Given the description of an element on the screen output the (x, y) to click on. 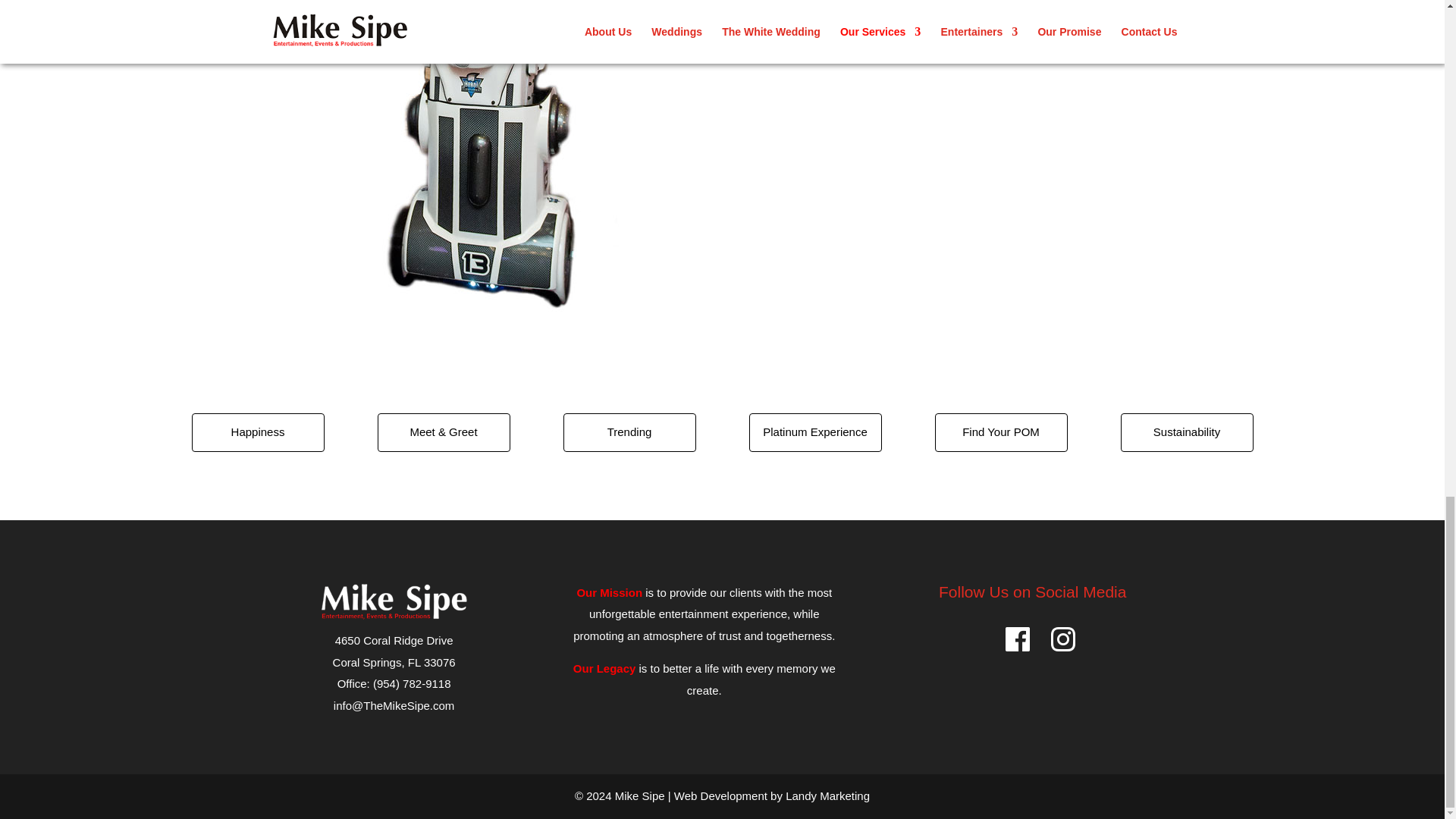
Platinum Experience (815, 432)
Sustainability (1187, 432)
Find Your POM (1000, 432)
Happiness (256, 432)
Trending (628, 432)
